Given the description of an element on the screen output the (x, y) to click on. 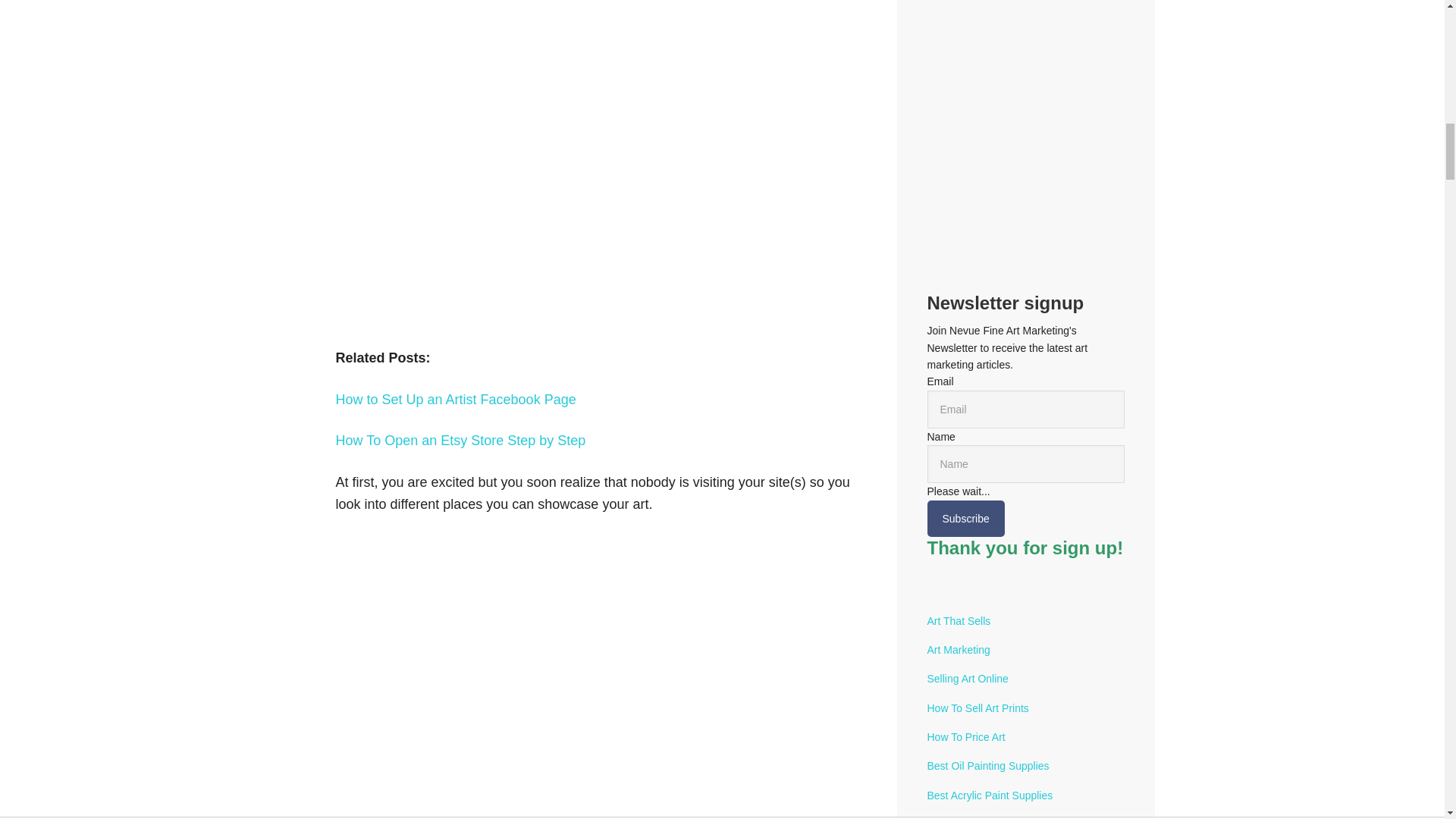
How to Set Up an Artist Facebook Page (454, 399)
How To Open an Etsy Store Step by Step (459, 440)
